Given the description of an element on the screen output the (x, y) to click on. 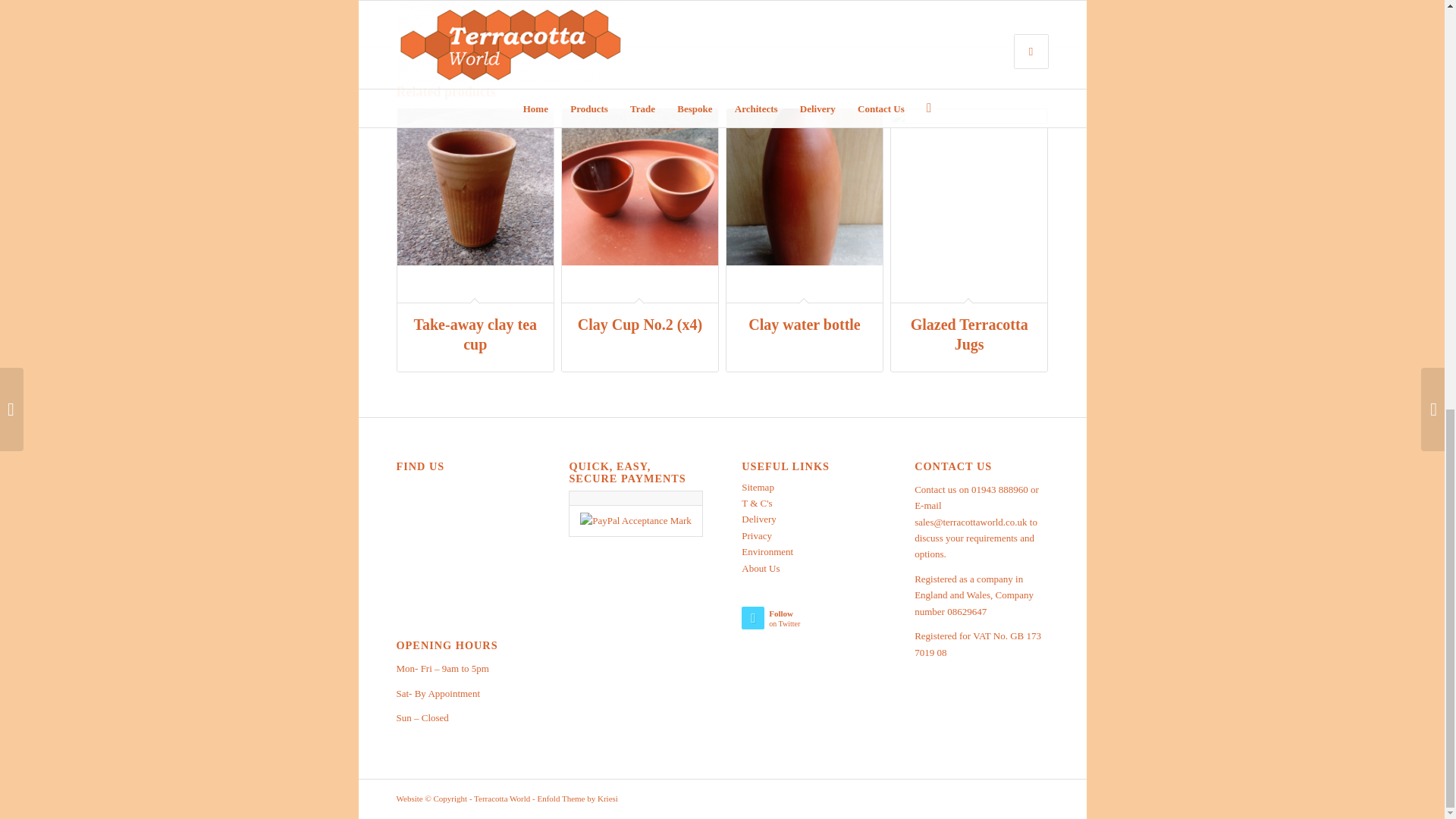
How PayPal Works (635, 520)
Delivery (758, 518)
Sitemap (757, 487)
